Given the description of an element on the screen output the (x, y) to click on. 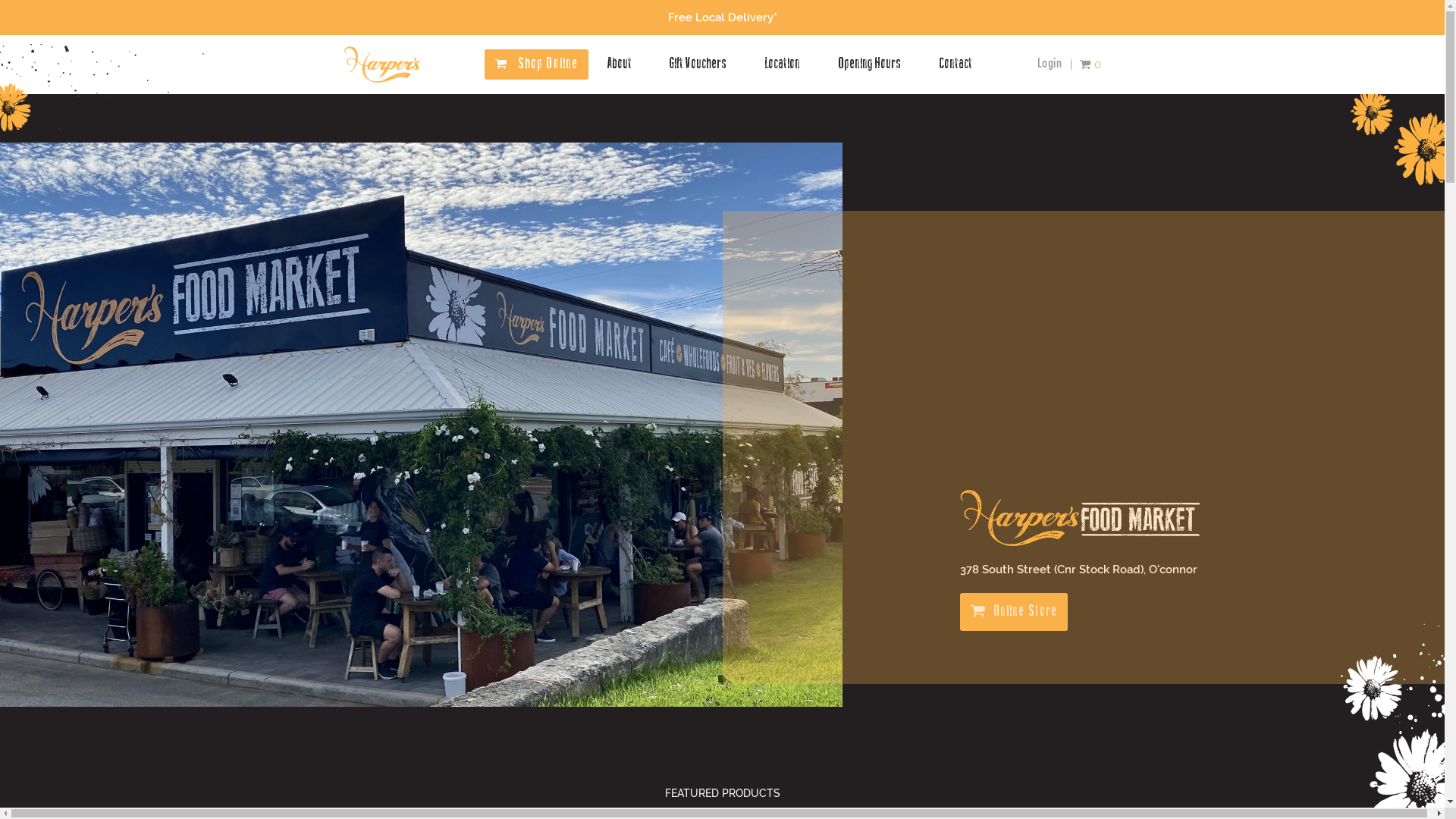
Login Element type: text (1049, 63)
Online Store Element type: text (1013, 611)
Opening Hours Element type: text (868, 64)
Contact Element type: text (955, 64)
Gift Vouchers Element type: text (697, 64)
About Element type: text (619, 64)
Location Element type: text (782, 64)
Free Local Delivery* Element type: text (721, 17)
Shop Online Element type: text (547, 64)
Online Store Element type: text (1014, 611)
0 Element type: text (1090, 64)
